Given the description of an element on the screen output the (x, y) to click on. 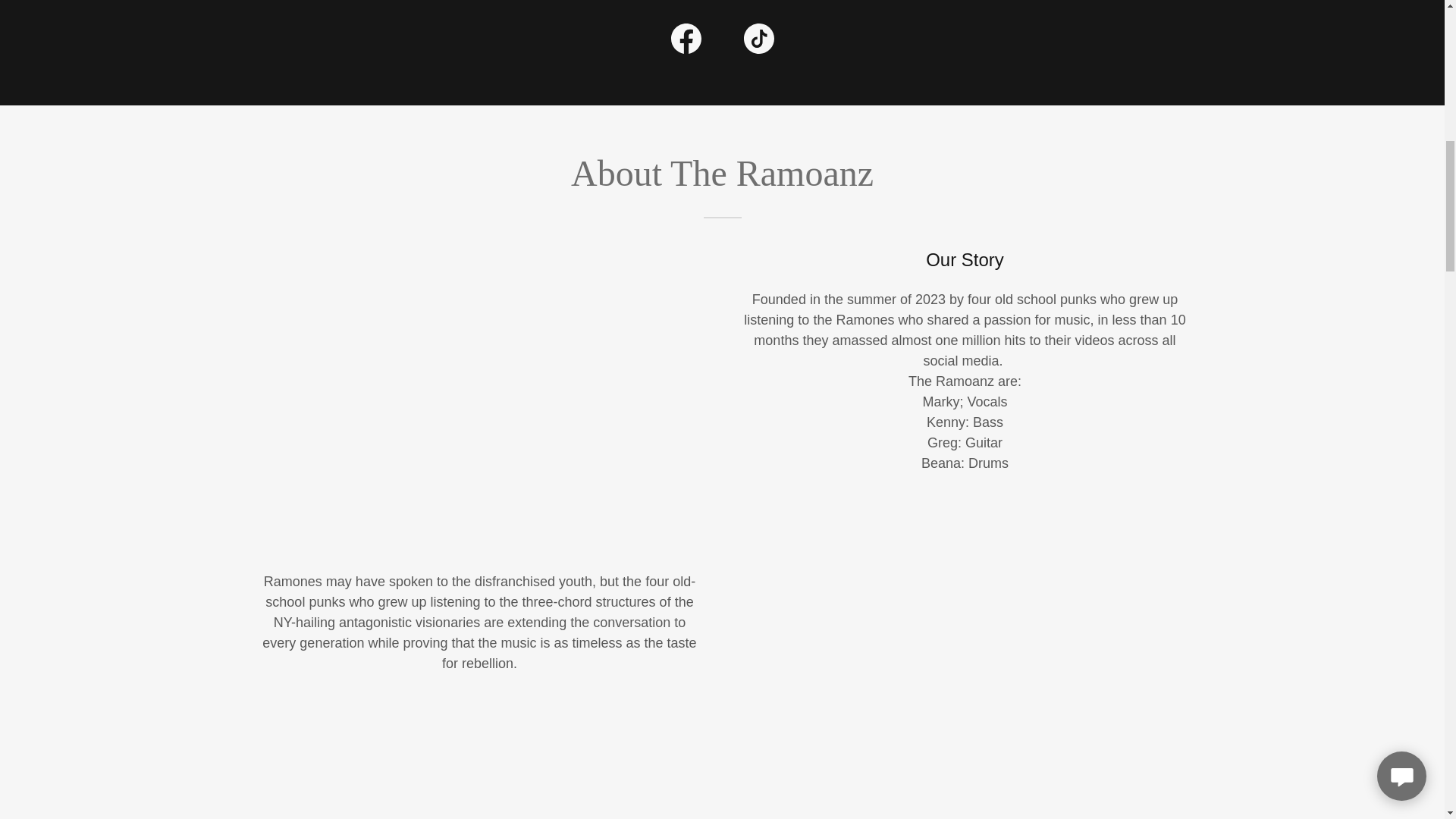
DECLINE (1203, 324)
ACCEPT (1345, 324)
